Given the description of an element on the screen output the (x, y) to click on. 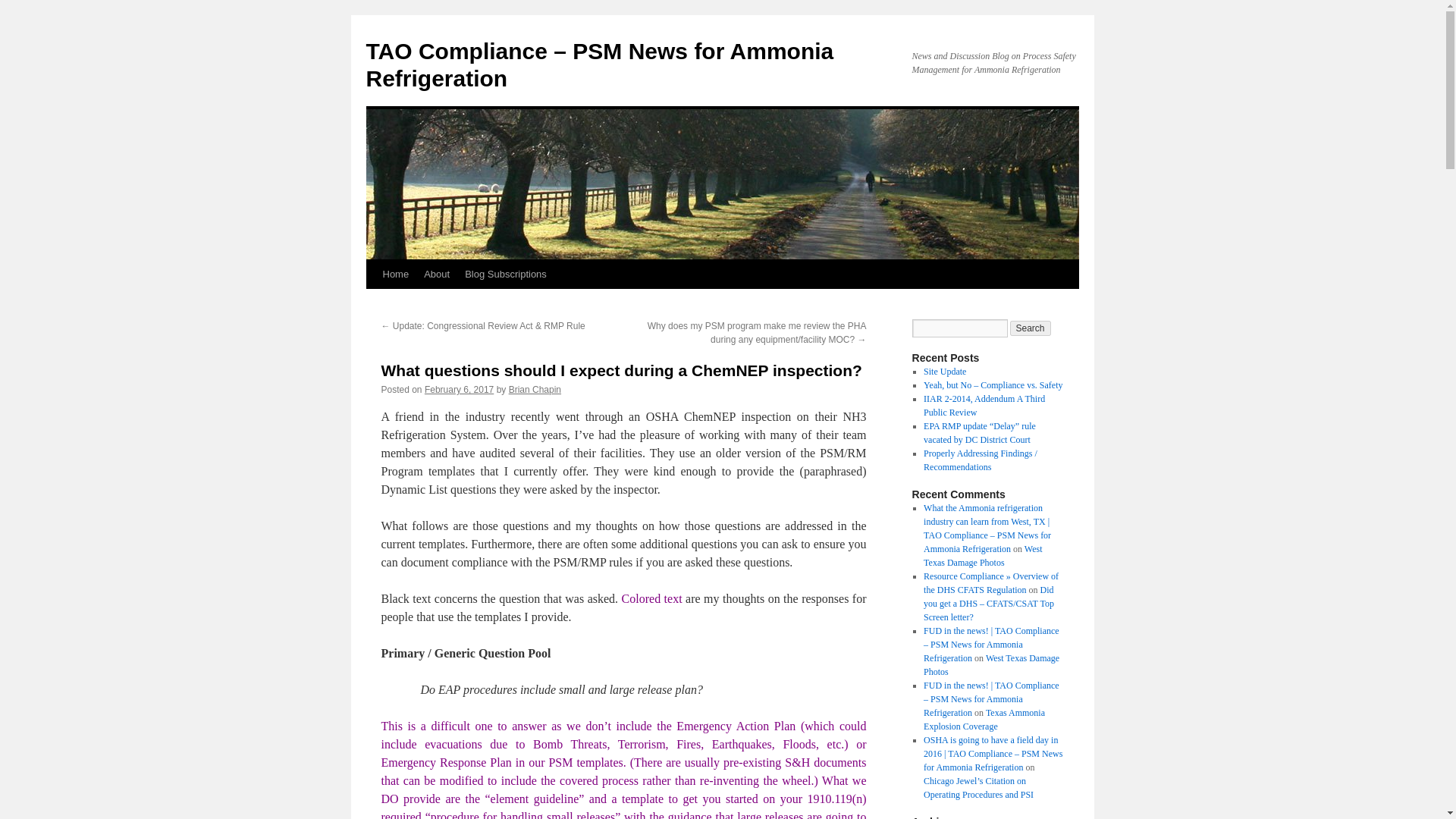
About (436, 274)
West Texas Damage Photos (982, 555)
12:52 (459, 389)
Home (395, 274)
Brian Chapin (534, 389)
IIAR 2-2014, Addendum A Third Public Review (984, 405)
View all posts by Brian Chapin (534, 389)
Site Update (944, 371)
February 6, 2017 (459, 389)
Blog Subscriptions (505, 274)
Search (1030, 328)
Search (1030, 328)
